Given the description of an element on the screen output the (x, y) to click on. 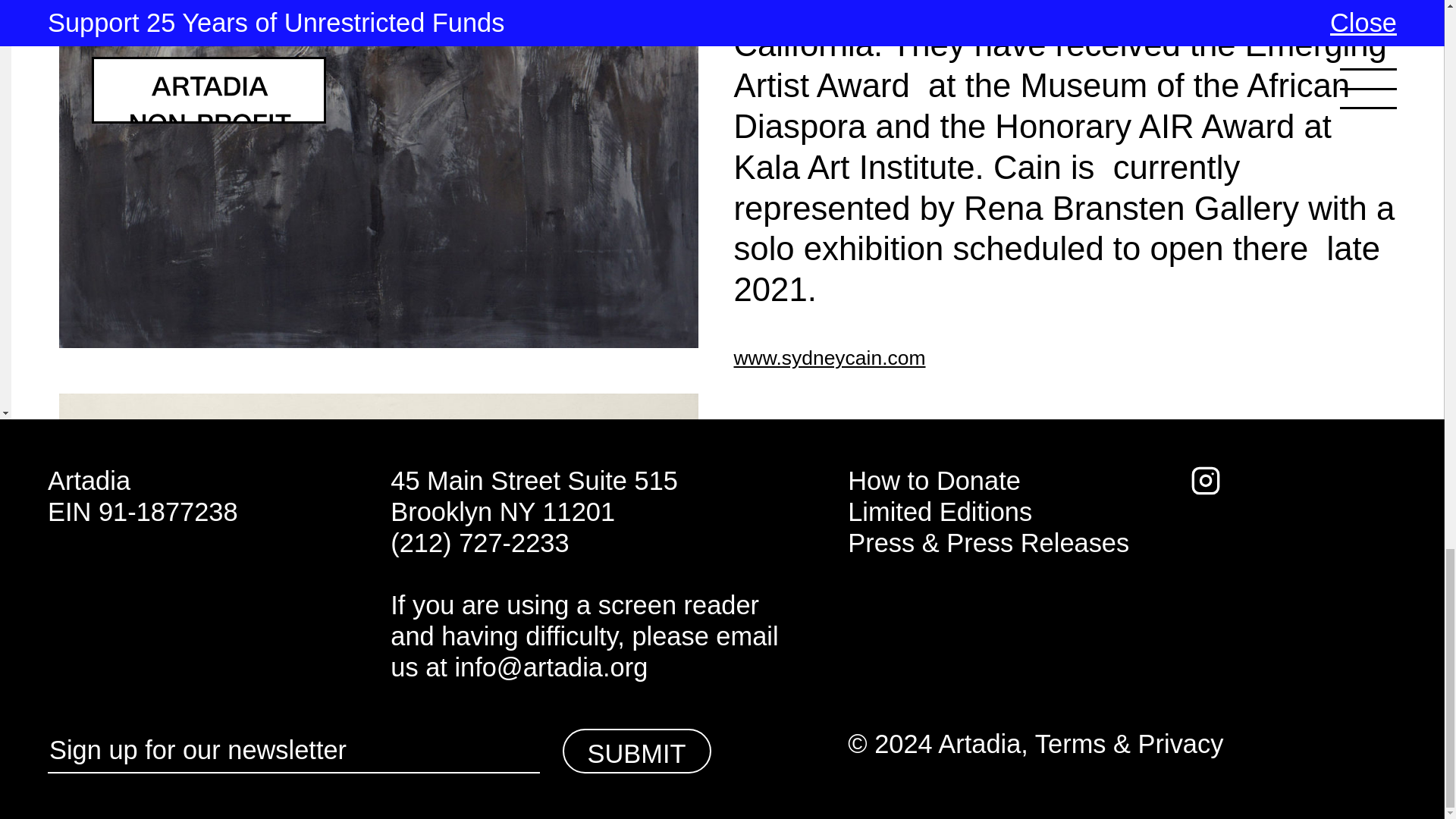
Submit (636, 750)
www.sydneycain.com (829, 357)
Submit (636, 750)
Limited Editions (939, 511)
How to Donate (933, 480)
